Given the description of an element on the screen output the (x, y) to click on. 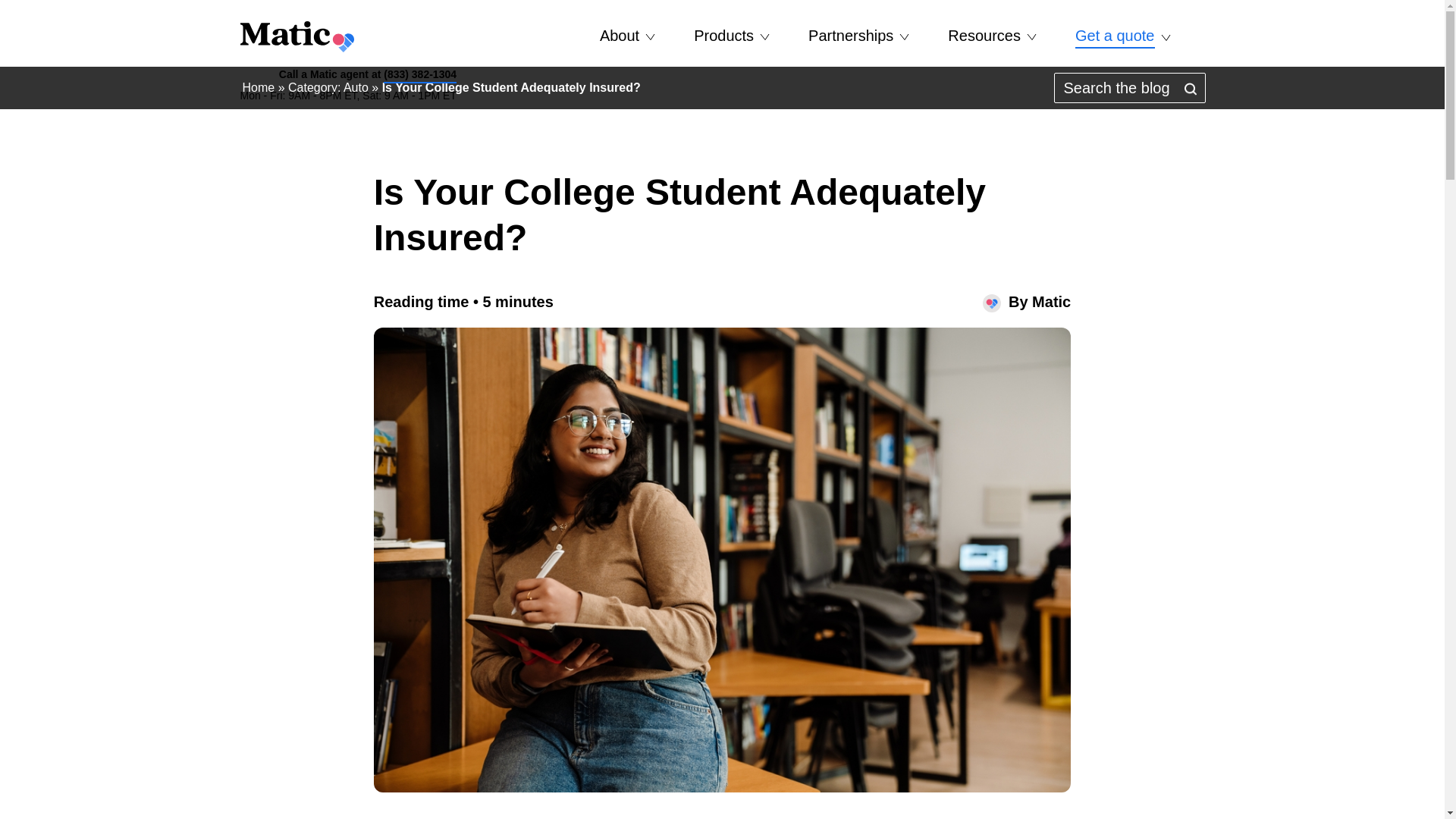
About (627, 35)
Home insurance (731, 78)
Partnerships (857, 35)
Get a quote (1122, 36)
About Matic (627, 78)
Why partner with Matic? (858, 78)
Products (730, 35)
Resources (991, 35)
Home insurance (1122, 78)
Blog (991, 78)
